Given the description of an element on the screen output the (x, y) to click on. 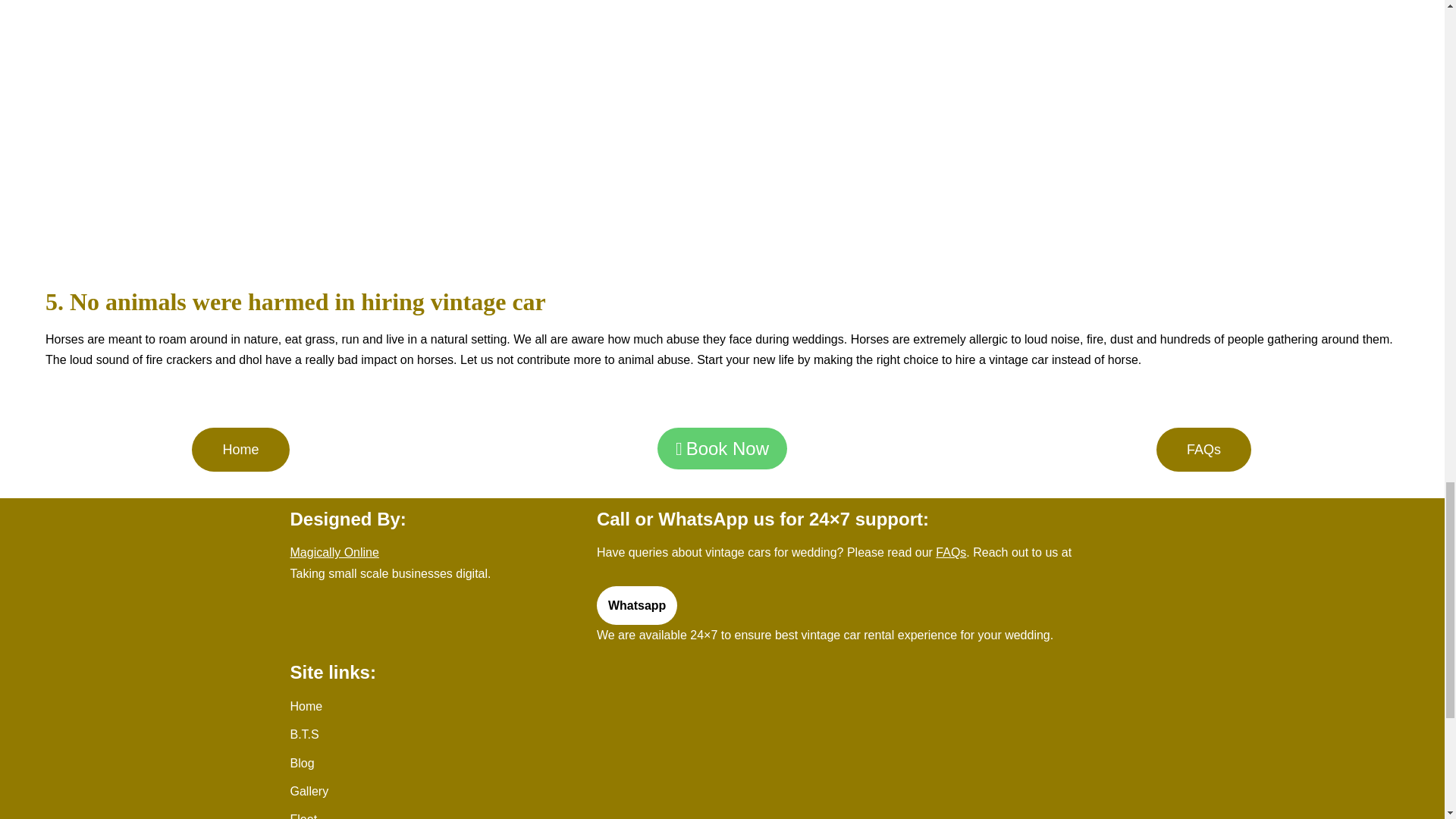
FAQs (1203, 449)
Whatsapp (636, 605)
Whatsapp (636, 605)
vintage car pre wedding shoot (722, 137)
Magically Online (333, 552)
Book Now (722, 448)
Home (240, 449)
FAQs (951, 552)
